Given the description of an element on the screen output the (x, y) to click on. 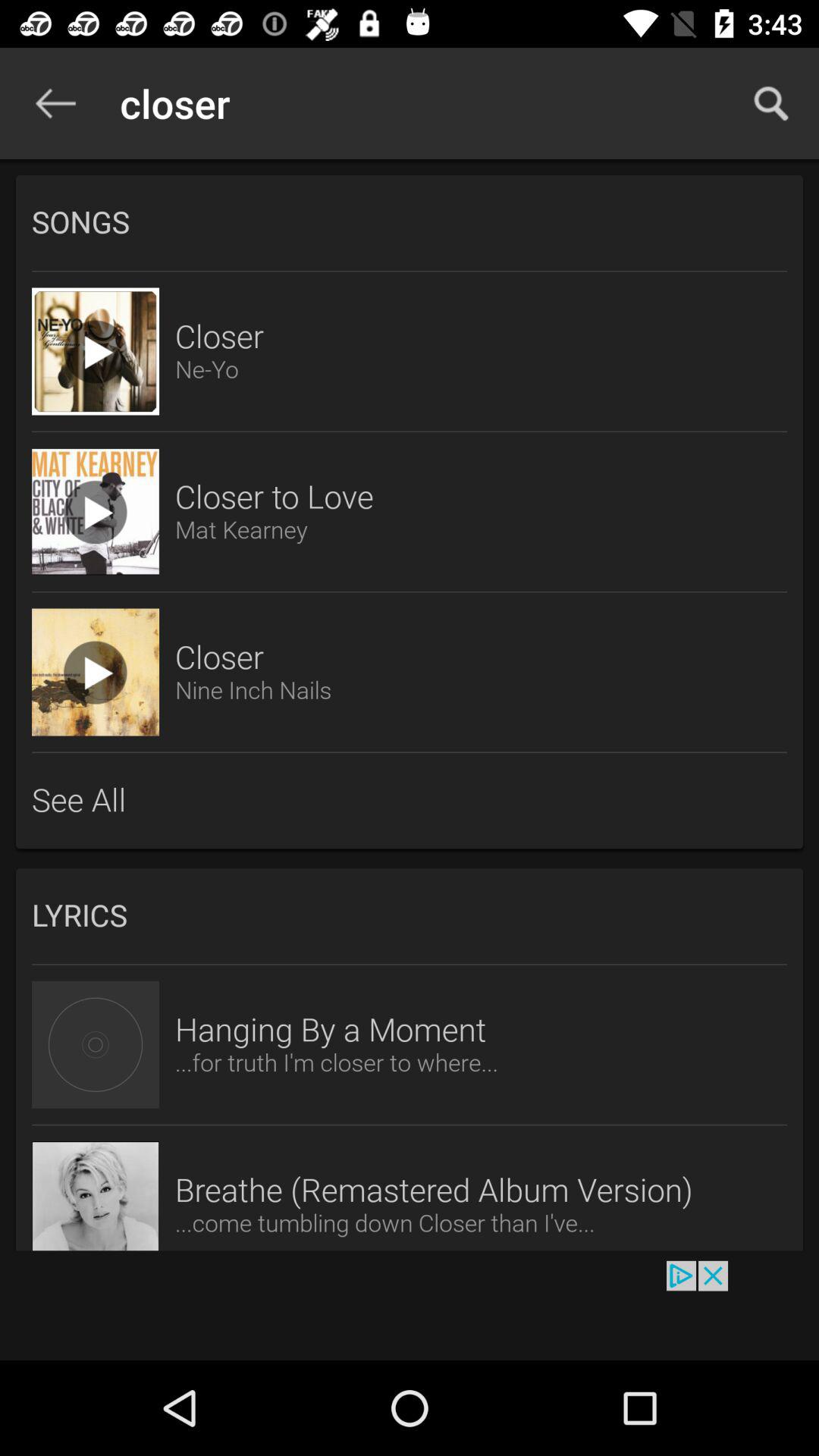
view video (95, 671)
